Given the description of an element on the screen output the (x, y) to click on. 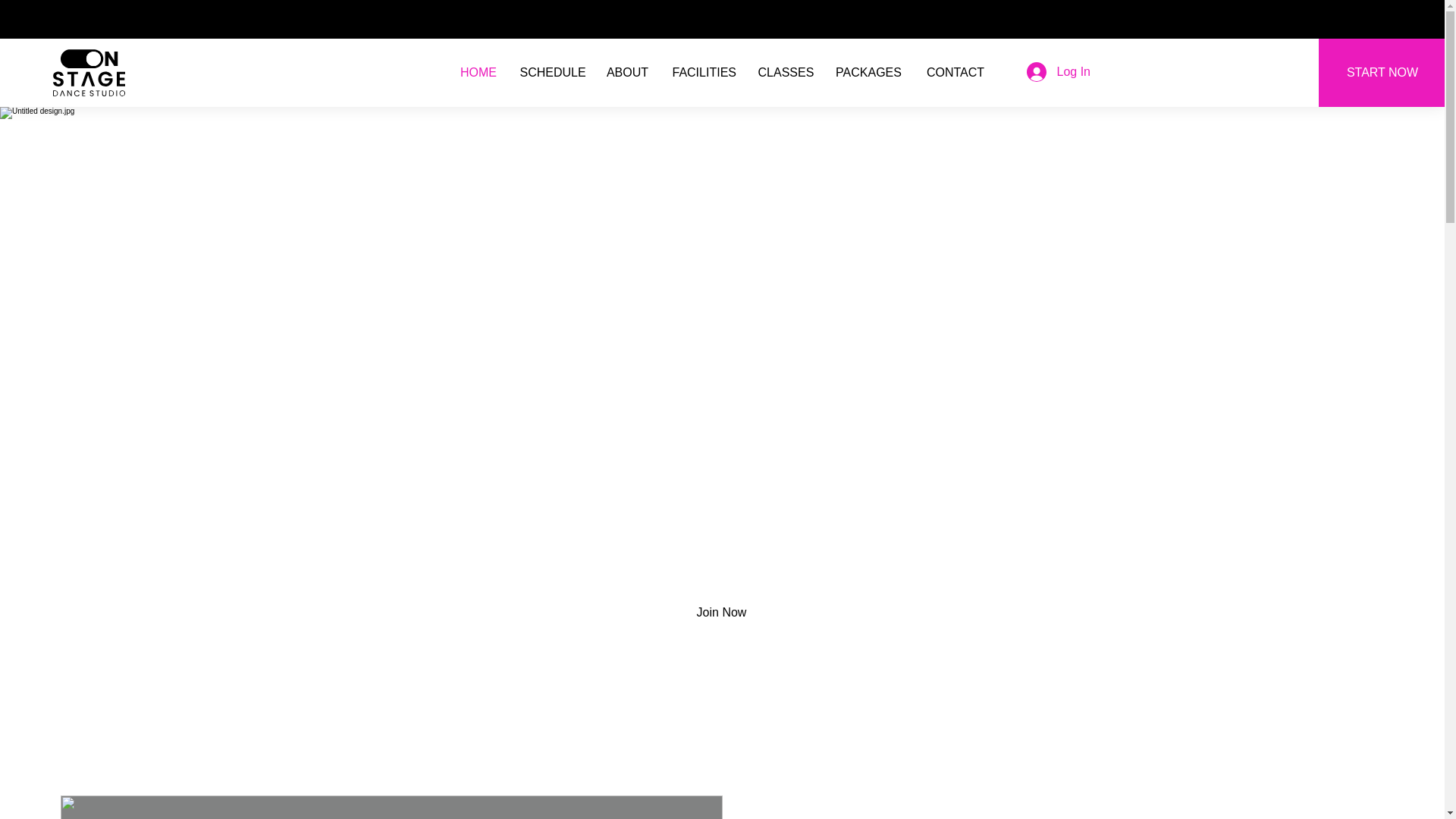
CONTACT (954, 72)
PACKAGES (868, 72)
HOME (478, 72)
ABOUT (627, 72)
Log In (1055, 71)
CLASSES (784, 72)
SCHEDULE (551, 72)
FACILITIES (703, 72)
Join Now (721, 612)
